Given the description of an element on the screen output the (x, y) to click on. 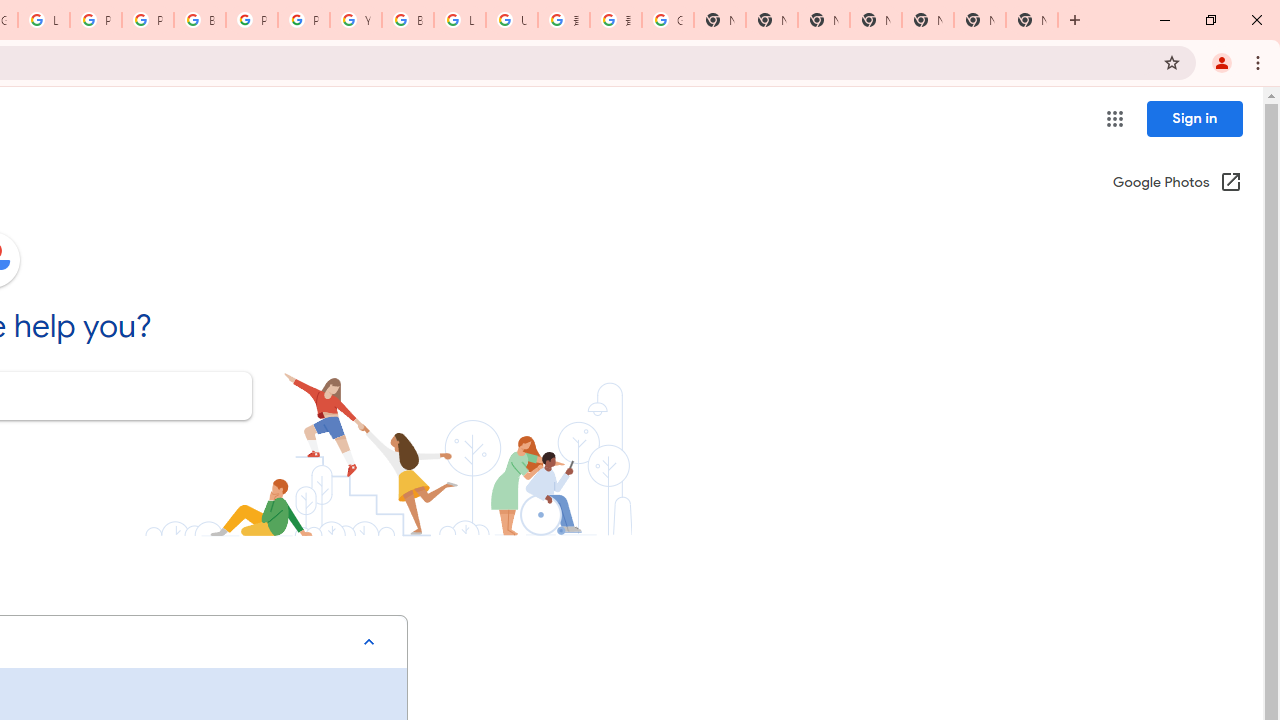
New Tab (1032, 20)
Browse Chrome as a guest - Computer - Google Chrome Help (407, 20)
New Tab (875, 20)
Google Photos (Open in a new window) (1177, 183)
Privacy Help Center - Policies Help (147, 20)
Privacy Help Center - Policies Help (95, 20)
YouTube (355, 20)
